Given the description of an element on the screen output the (x, y) to click on. 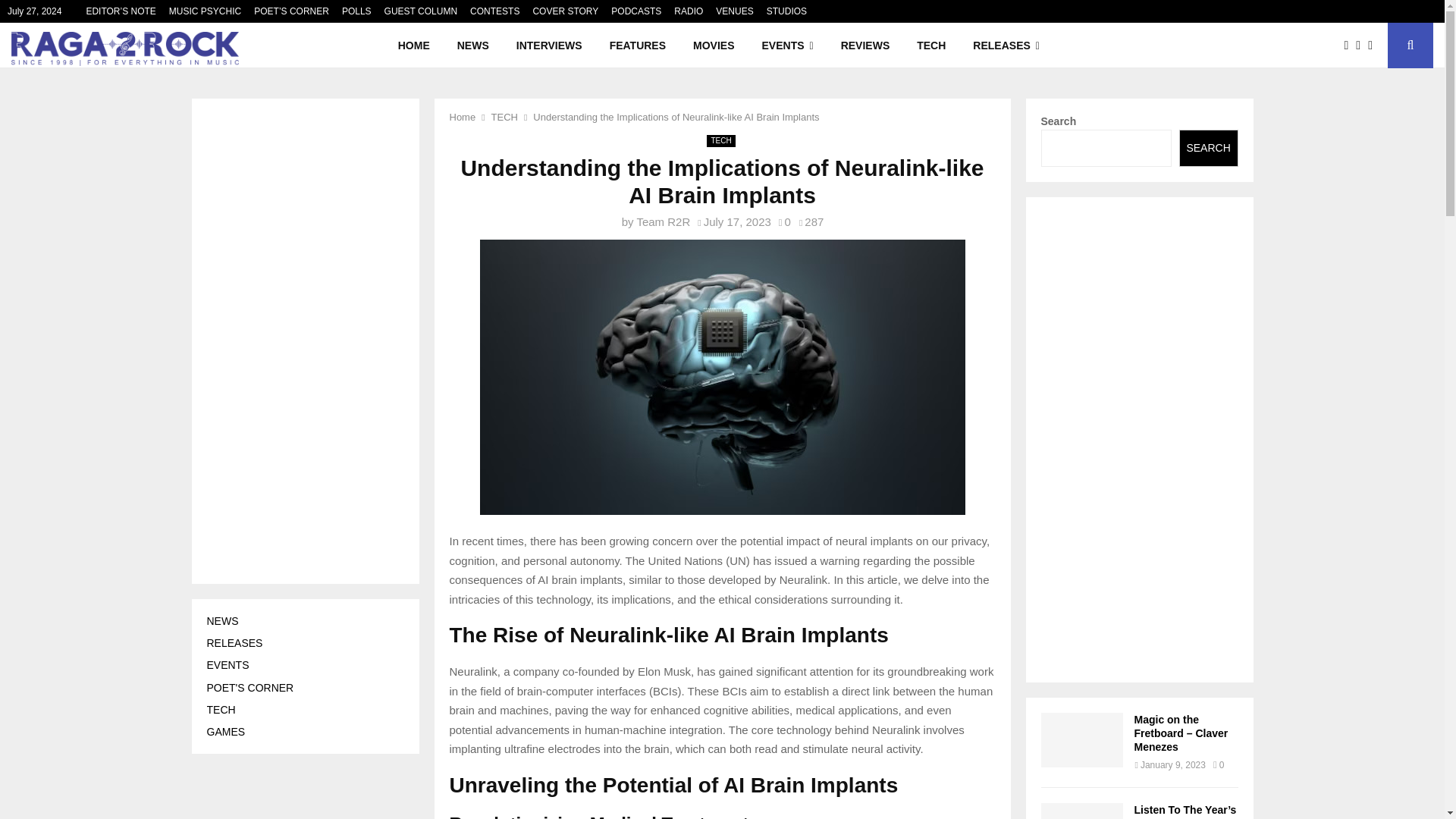
RADIO (688, 11)
GUEST COLUMN (420, 11)
Home (462, 116)
COVER STORY (565, 11)
CONTESTS (494, 11)
RELEASES (1005, 44)
INTERVIEWS (548, 44)
0 (784, 221)
MOVIES (713, 44)
VENUES (734, 11)
EVENTS (787, 44)
TECH (930, 44)
STUDIOS (786, 11)
TECH (505, 116)
MUSIC PSYCHIC (204, 11)
